Given the description of an element on the screen output the (x, y) to click on. 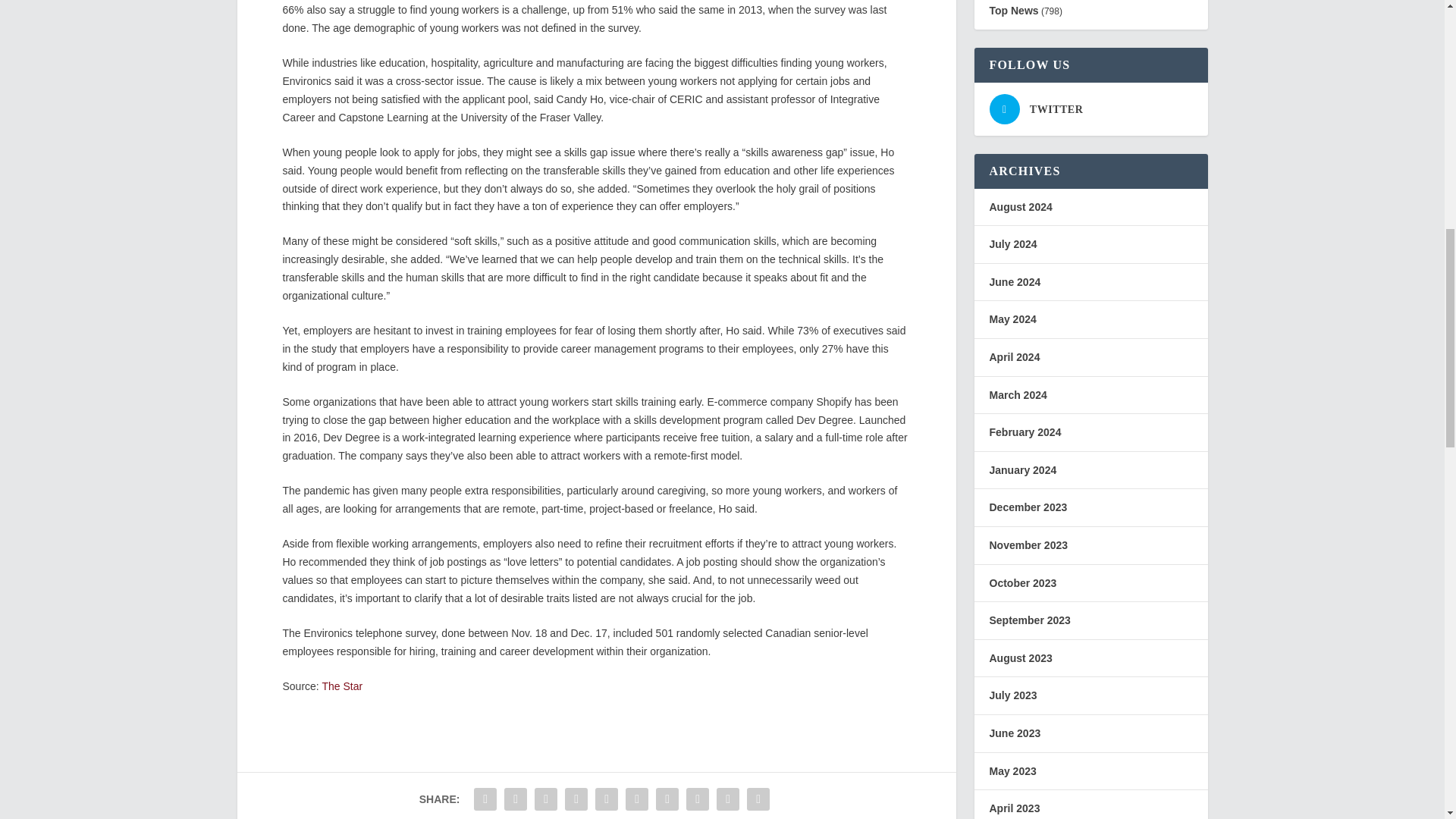
The Star (341, 686)
